Given the description of an element on the screen output the (x, y) to click on. 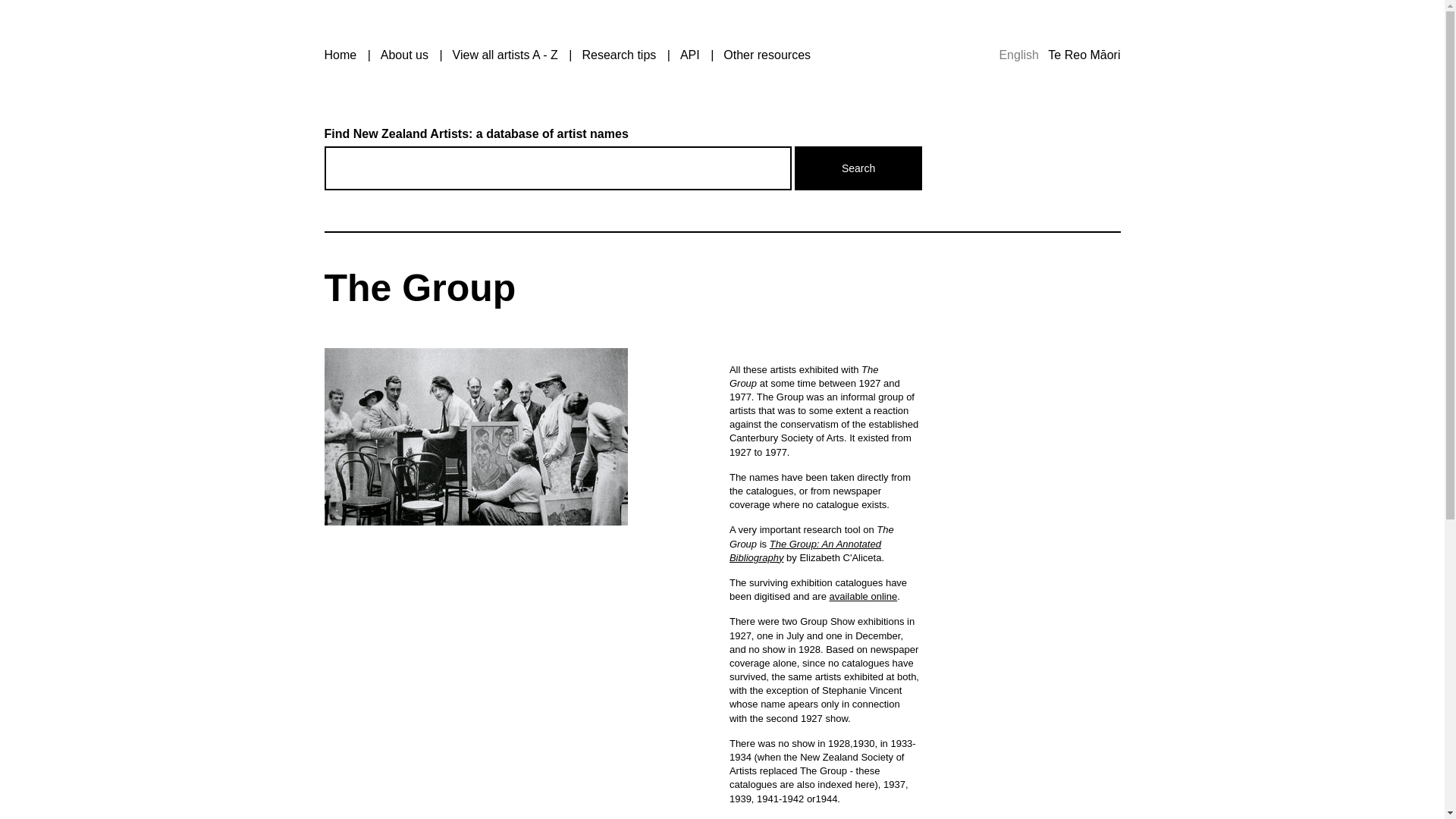
View all artists A - Z (504, 54)
Research tips (618, 54)
English (1018, 55)
Search (857, 168)
Search (857, 168)
Other resources (766, 54)
available online (863, 595)
About us (404, 54)
Home (340, 54)
The Group: An Annotated Bibliography (804, 550)
API (689, 54)
